Given the description of an element on the screen output the (x, y) to click on. 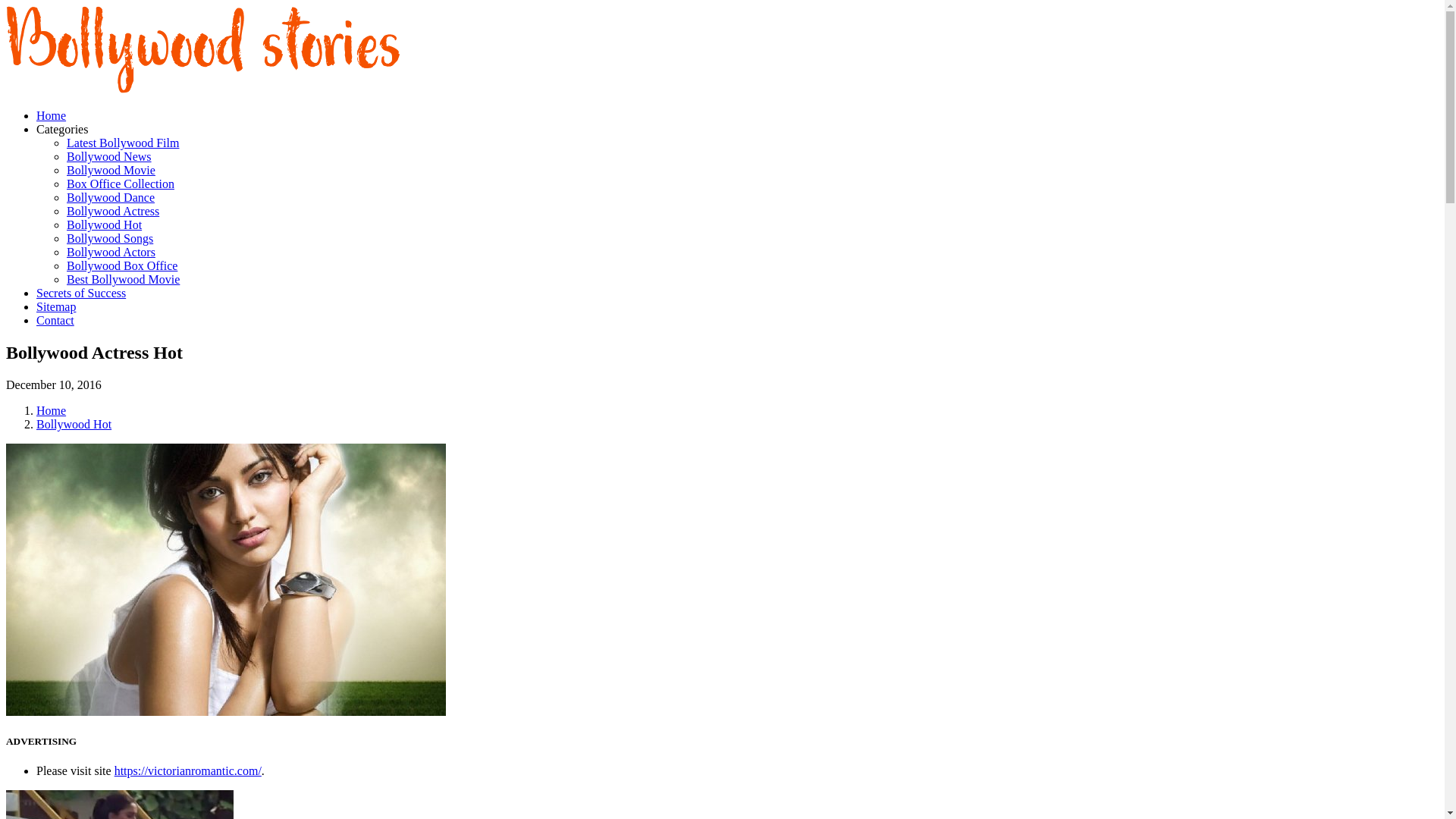
Categories (61, 128)
Bollywood Songs (109, 237)
Bollywood Hot (103, 224)
Bollywood Dance (110, 196)
Sitemap (55, 306)
Bollywood (202, 89)
Bollywood Hot (74, 423)
Bollywood Box Office (121, 265)
Box Office Collection (120, 183)
Bollywood Movie (110, 169)
